Given the description of an element on the screen output the (x, y) to click on. 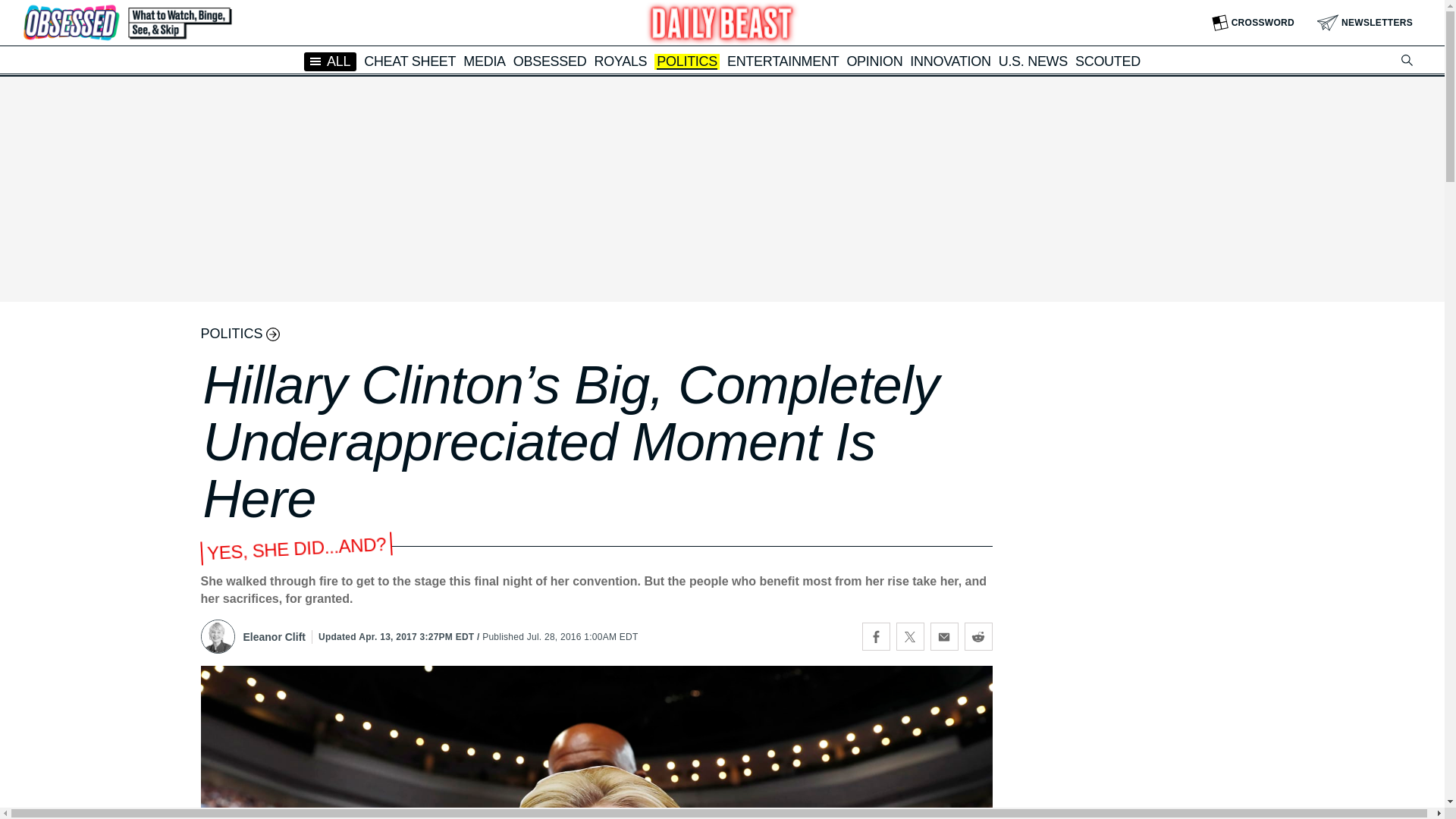
NEWSLETTERS (1364, 22)
CHEAT SHEET (409, 60)
OPINION (873, 60)
CROSSWORD (1252, 22)
ENTERTAINMENT (782, 60)
INNOVATION (950, 60)
ROYALS (620, 60)
U.S. NEWS (1032, 60)
POLITICS (686, 61)
MEDIA (484, 60)
OBSESSED (549, 60)
SCOUTED (1107, 60)
ALL (330, 60)
